Given the description of an element on the screen output the (x, y) to click on. 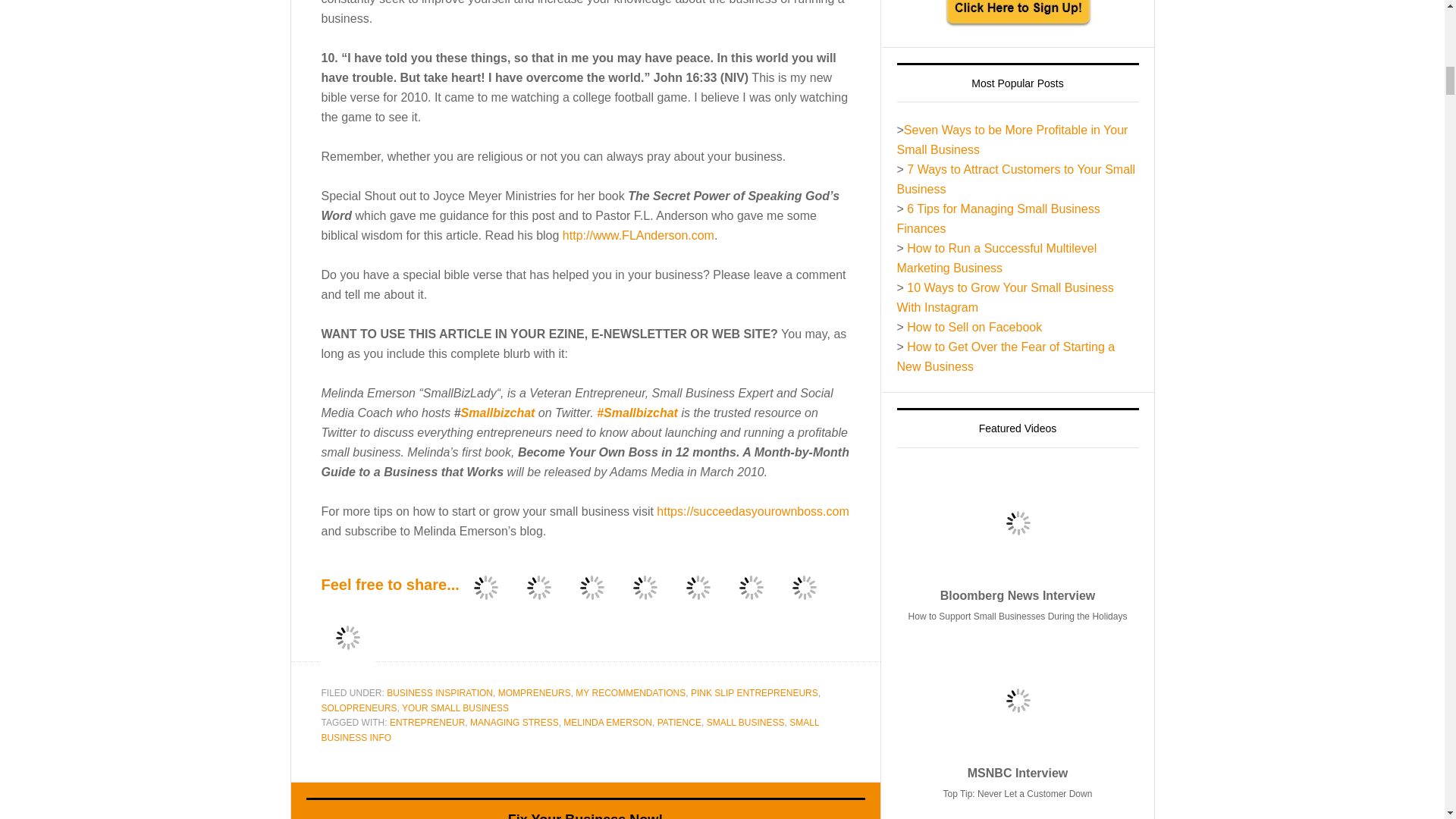
Feel free to share... (390, 585)
Search Twitter for "smallbizchat" (498, 412)
Smallbizchat (498, 412)
BUSINESS INSPIRATION (440, 692)
